Given the description of an element on the screen output the (x, y) to click on. 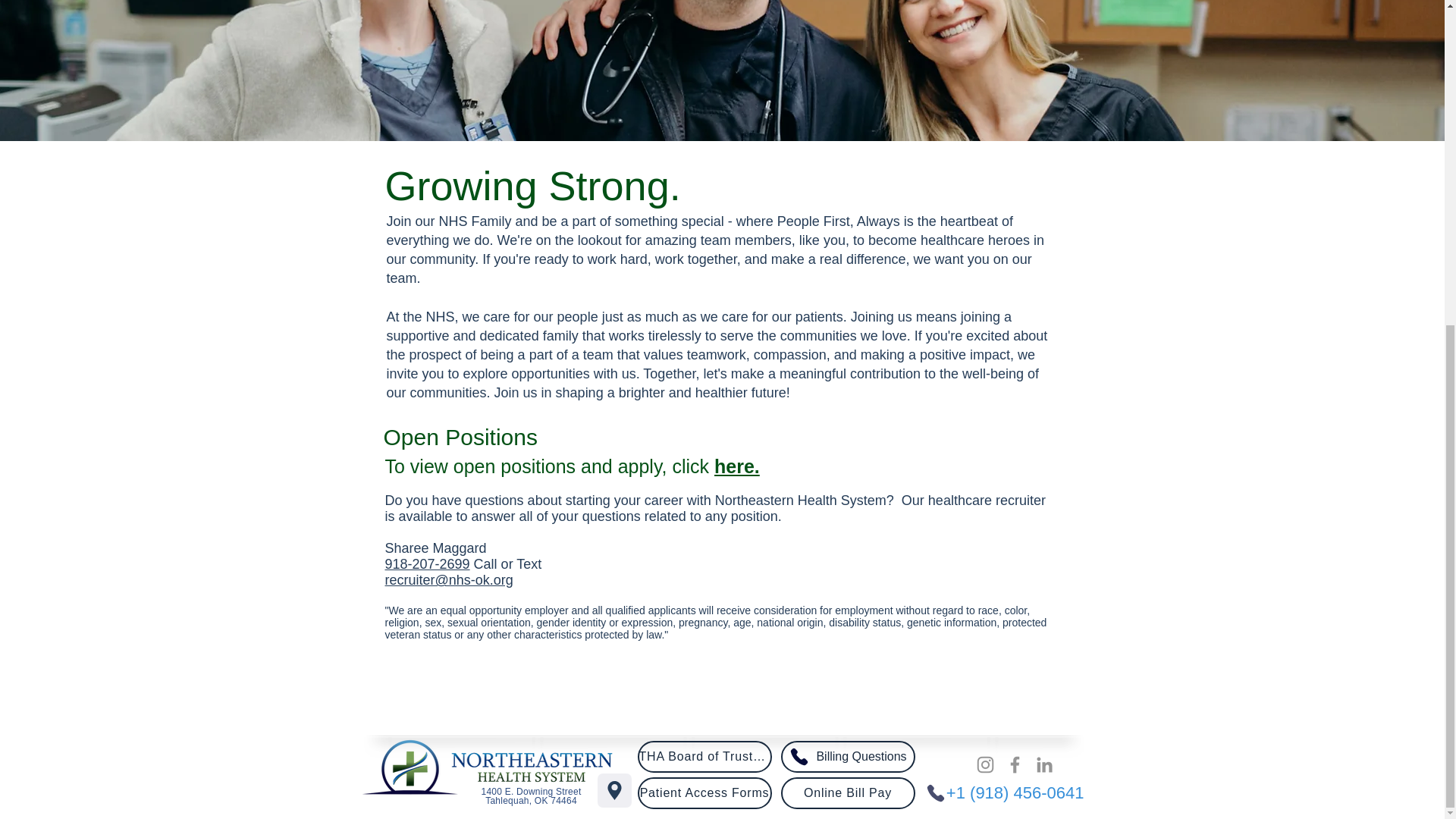
918-207-2699 (427, 563)
Billing Questions (847, 757)
here. (737, 465)
Patient Access Forms (704, 793)
Online Bill Pay (847, 793)
THA Board of Trustees (704, 757)
